Given the description of an element on the screen output the (x, y) to click on. 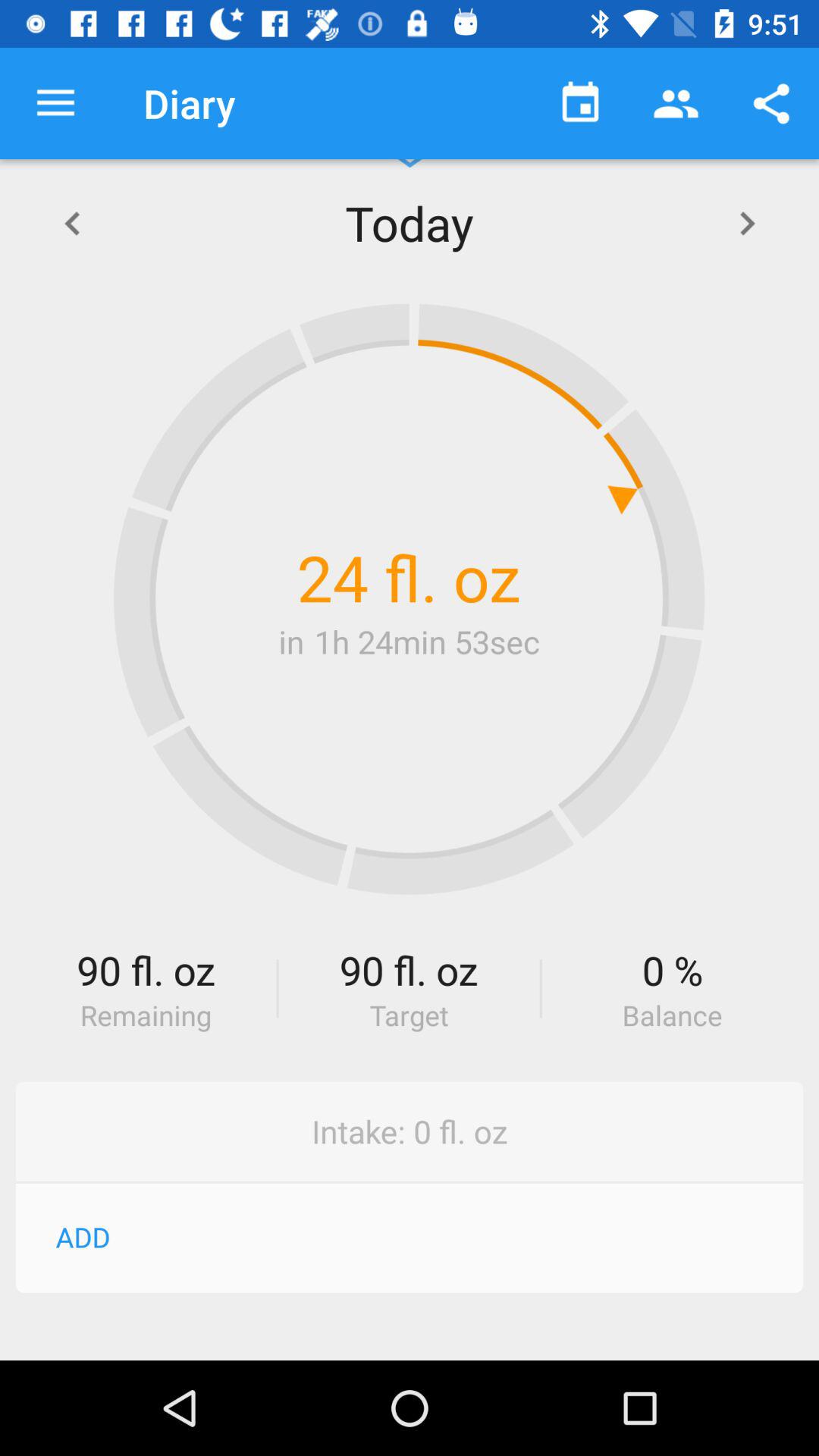
open item to the left of the today item (71, 222)
